Given the description of an element on the screen output the (x, y) to click on. 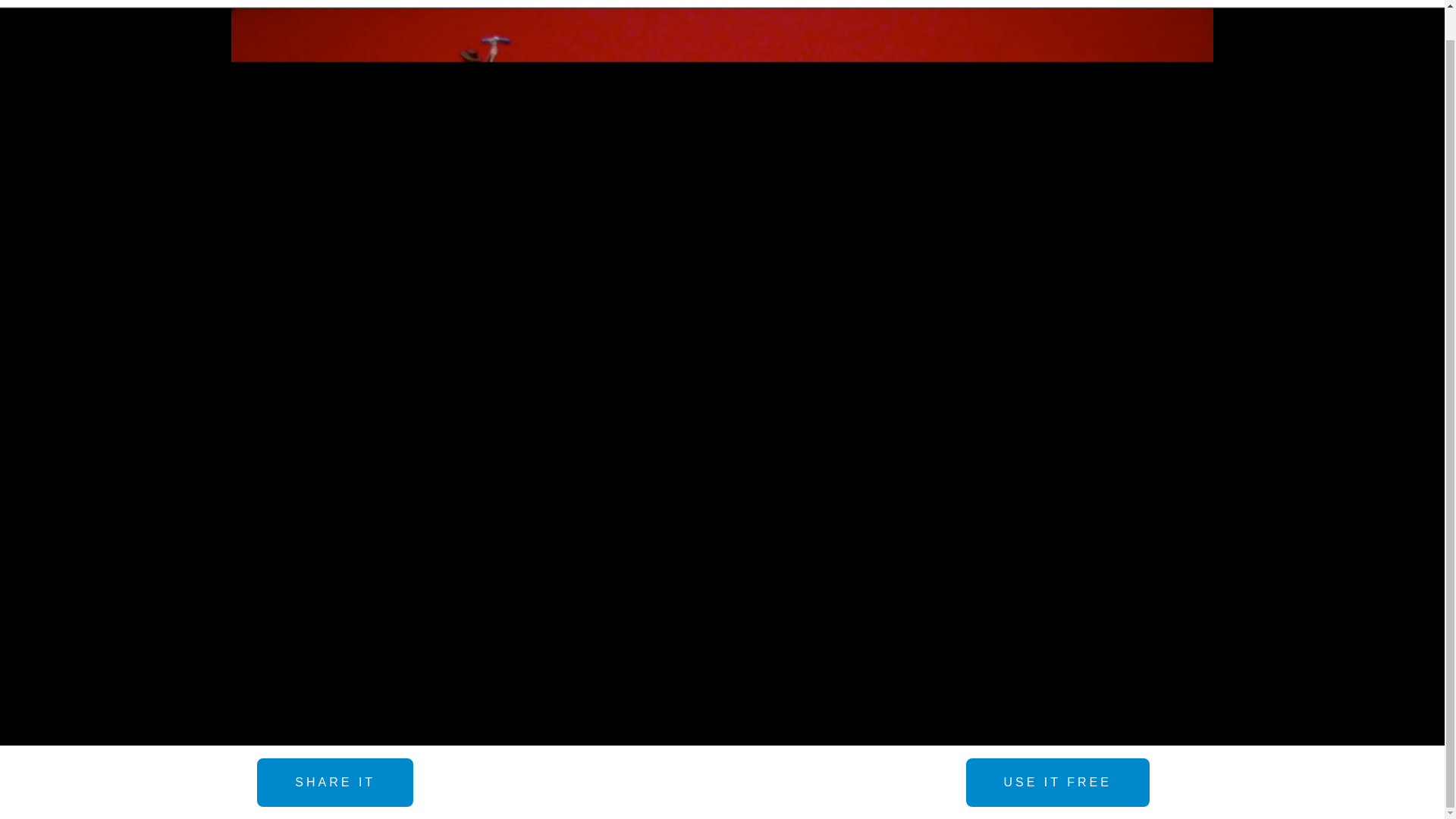
SEARCH (765, 3)
JD HANCOCK PHOTOS (215, 3)
Please, feel free to use this photo. (1058, 782)
USE IT FREE (1058, 782)
PORTFOLIO (486, 3)
SHARE IT (335, 782)
SERIES (638, 3)
ABOUT (888, 3)
CONTACT (1020, 3)
